Given the description of an element on the screen output the (x, y) to click on. 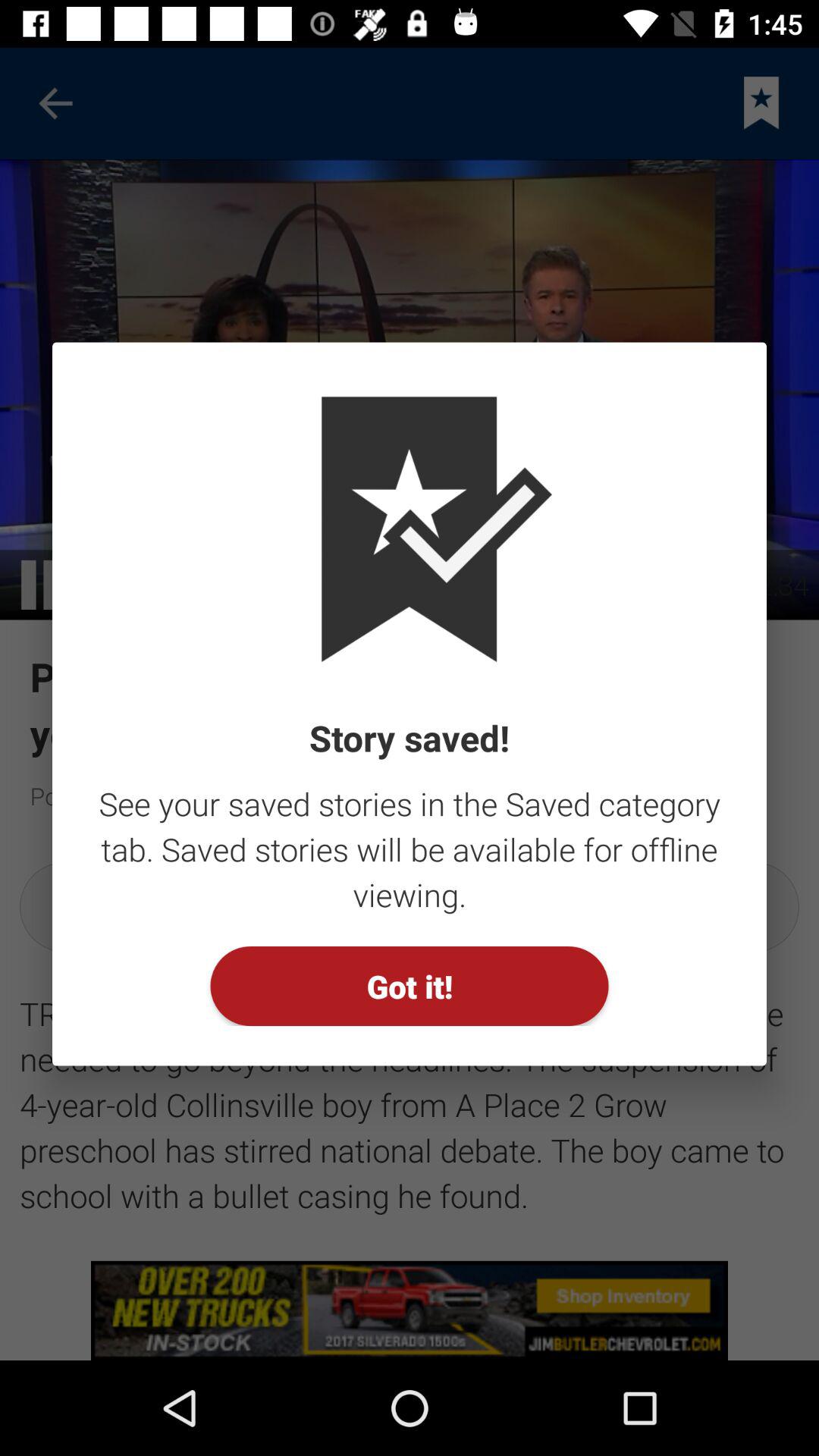
flip to got it! item (409, 986)
